Given the description of an element on the screen output the (x, y) to click on. 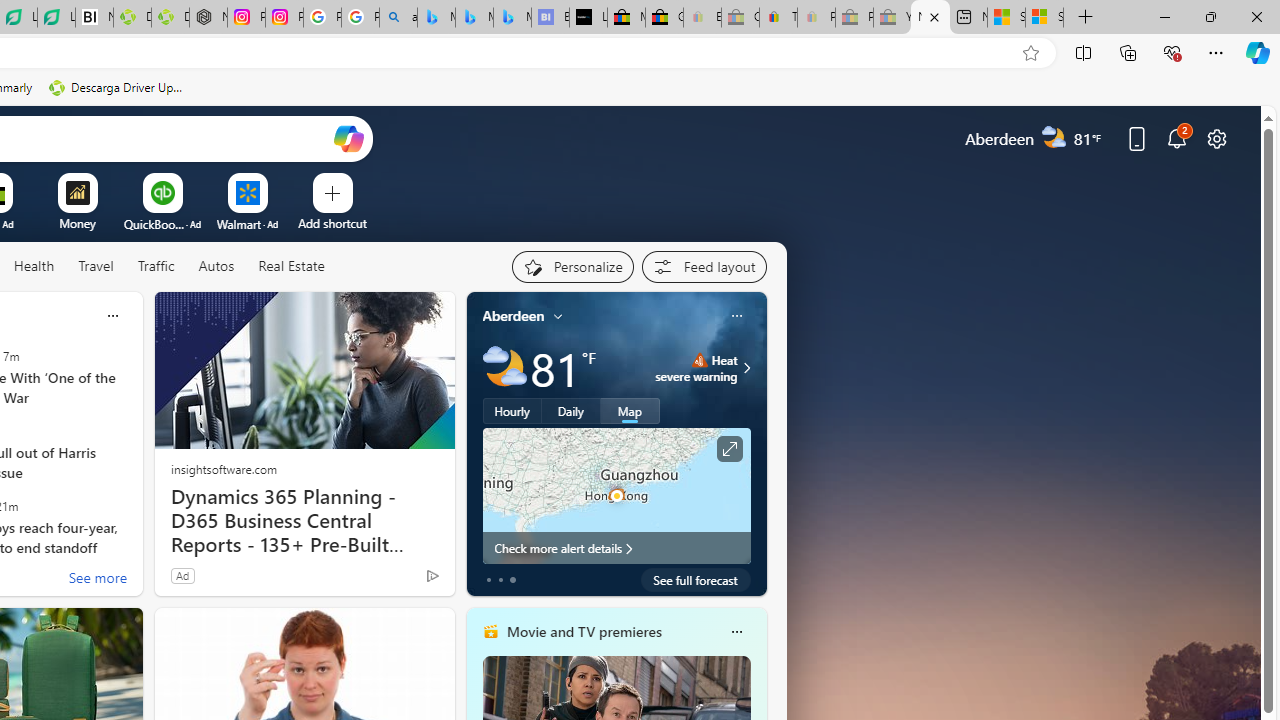
Feed settings (703, 266)
This story is trending (393, 579)
My location (558, 315)
Click to see more information (728, 449)
tab-2 (511, 579)
